Given the description of an element on the screen output the (x, y) to click on. 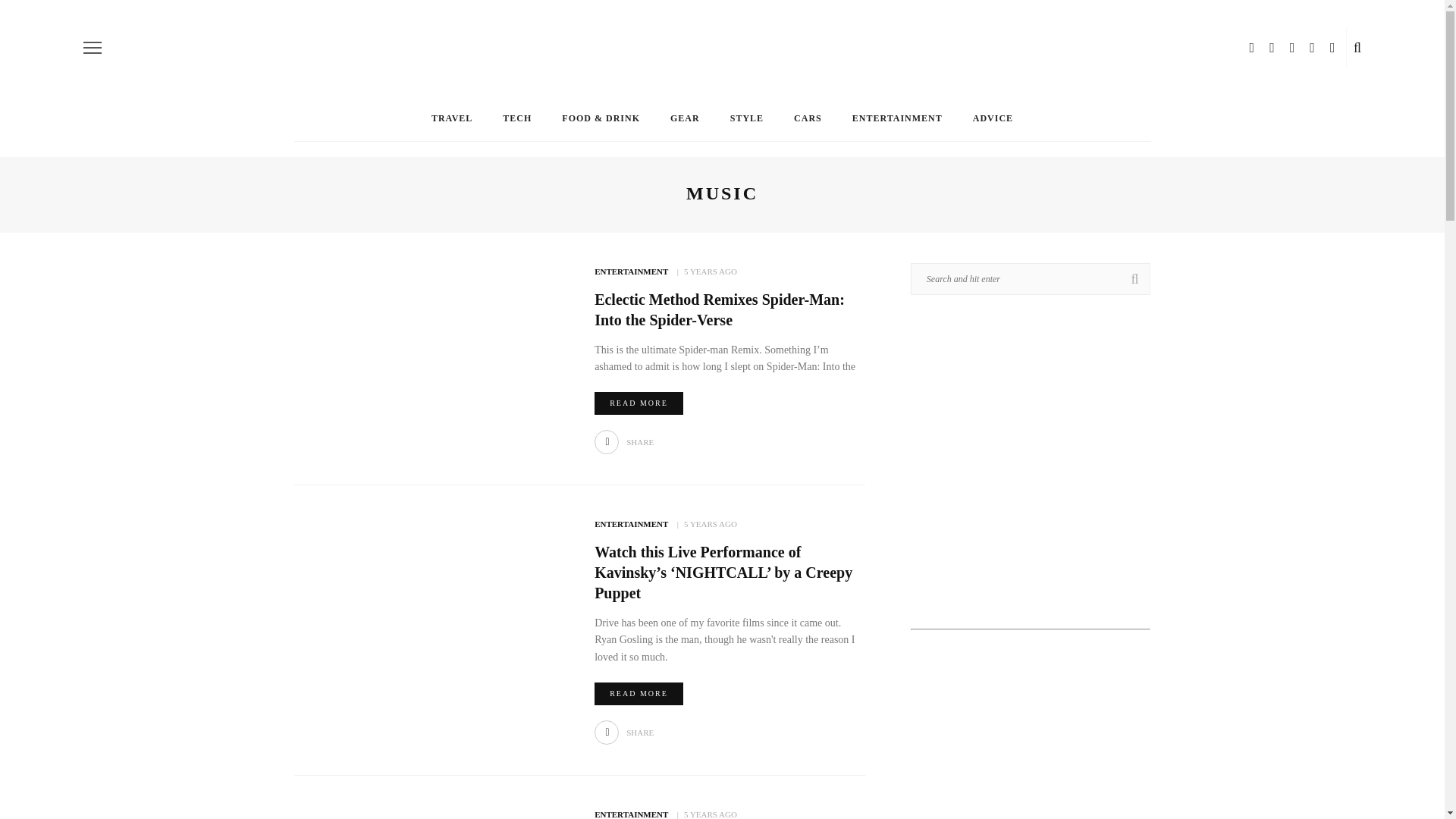
Instagram (1311, 47)
Youtube (1332, 47)
TRAVEL (451, 117)
off canvas button (91, 47)
search (1356, 47)
TECH (517, 117)
Facebook (1251, 47)
Pinterest (1292, 47)
Twitter (1272, 47)
